Given the description of an element on the screen output the (x, y) to click on. 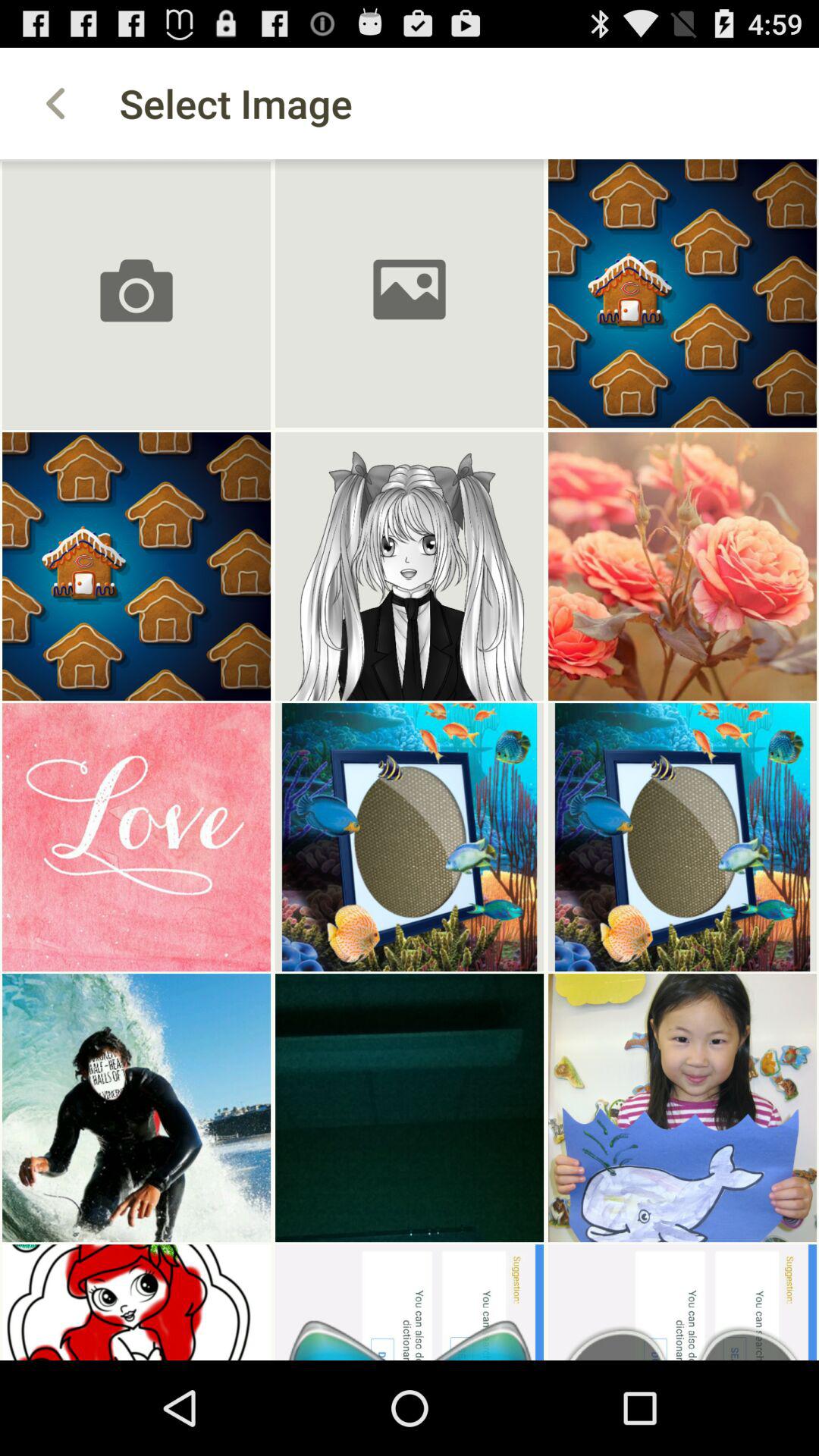
turn on the item to the left of select image icon (55, 103)
